Given the description of an element on the screen output the (x, y) to click on. 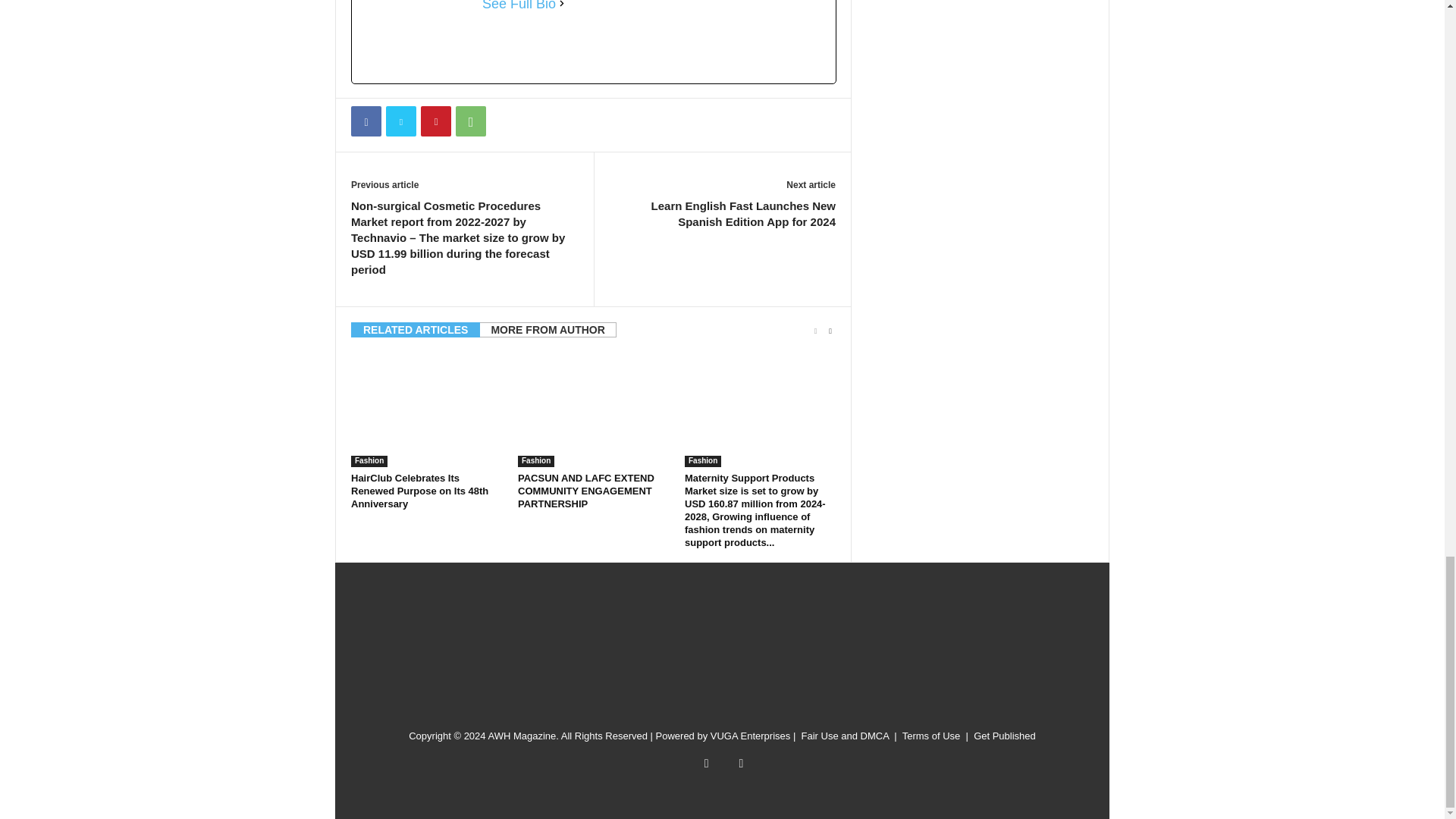
See Full Bio (518, 6)
